Given the description of an element on the screen output the (x, y) to click on. 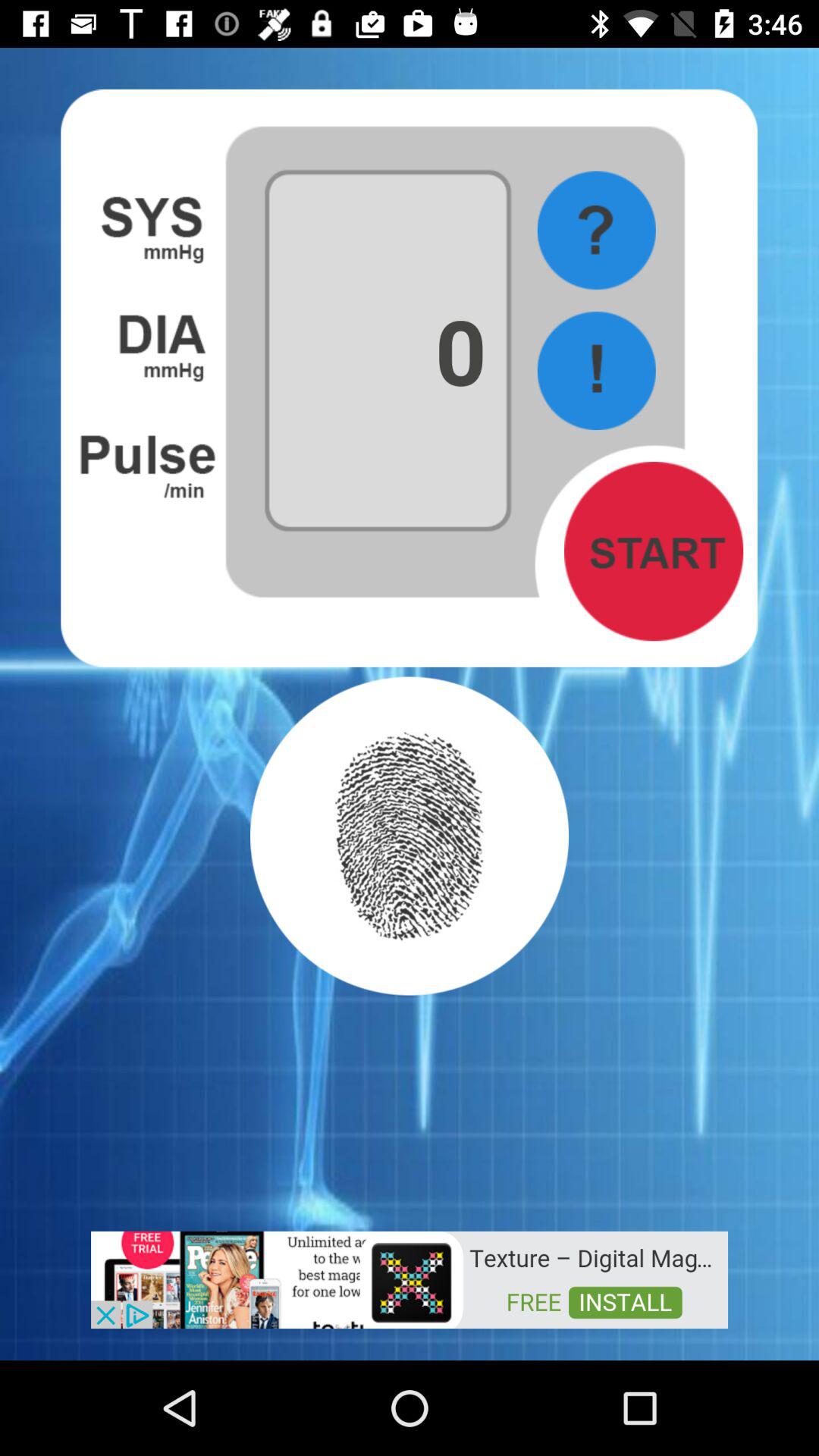
figure print (409, 835)
